Given the description of an element on the screen output the (x, y) to click on. 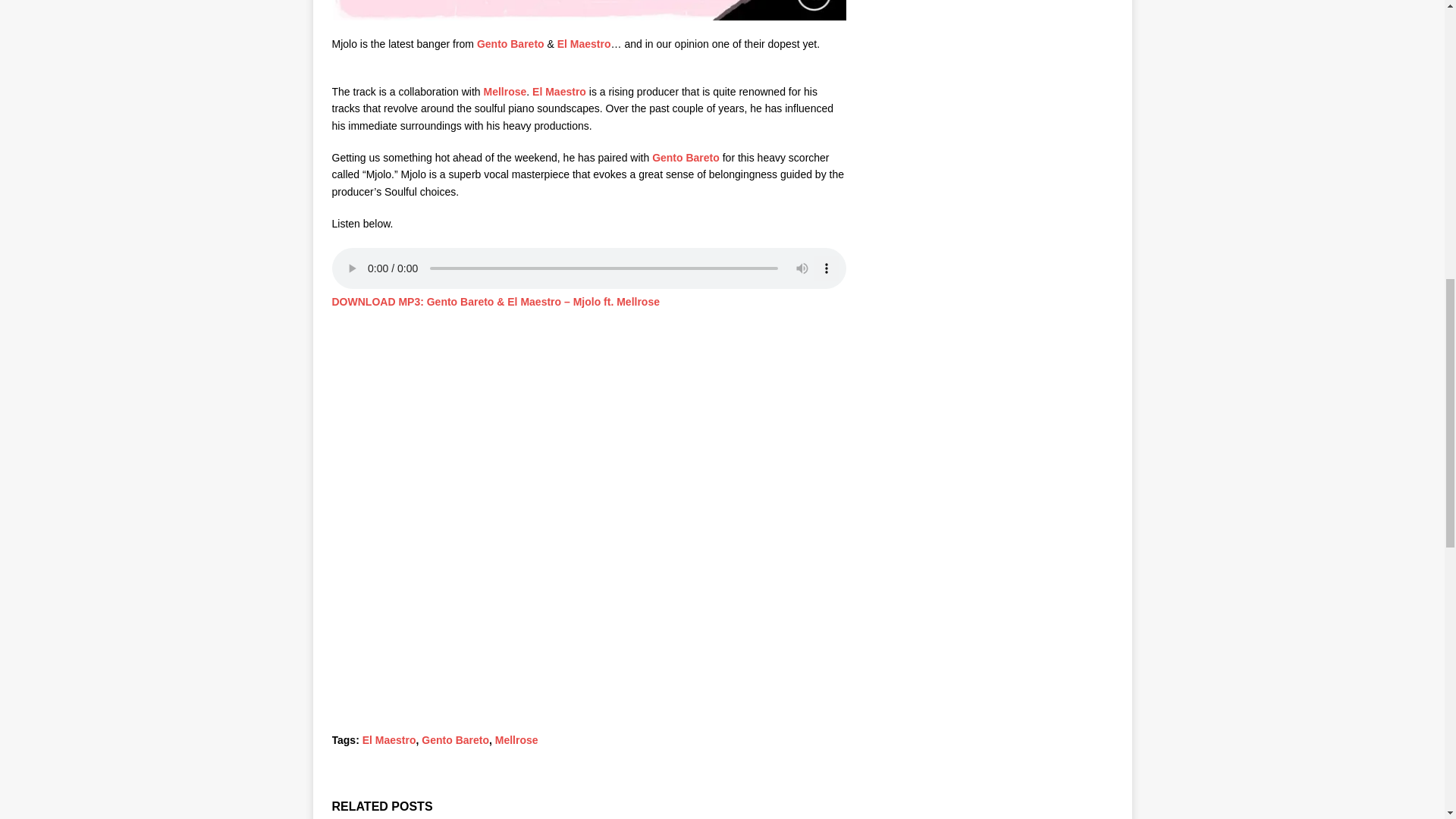
El Maestro (389, 739)
El Maestro (584, 43)
Gento Bareto (685, 157)
Mellrose (516, 739)
El Maestro (559, 91)
Gento Bareto (510, 43)
Gento Bareto (685, 157)
Gento Bareto (455, 739)
Mellrose (504, 91)
Gento Bareto (510, 43)
El Maestro (584, 43)
Mellrose (504, 91)
El Maestro (559, 91)
